Given the description of an element on the screen output the (x, y) to click on. 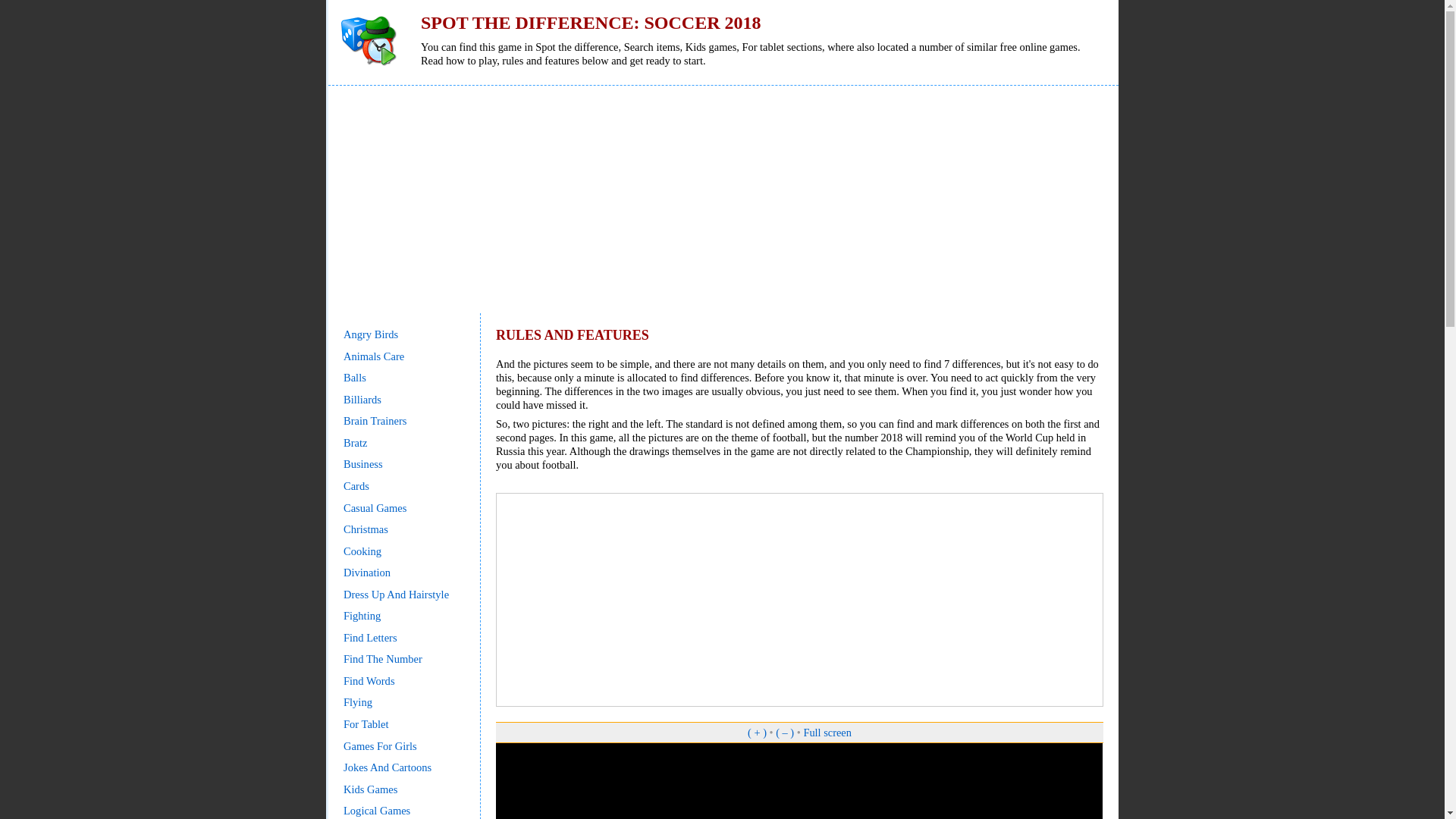
Brain Trainers (374, 420)
Decrease size (784, 732)
Business (362, 463)
Angry Birds (370, 334)
Bratz (354, 442)
Balls (354, 377)
Casual Games (374, 508)
Full screen mode (827, 732)
Cards (356, 485)
Increase size (757, 732)
Animals Care (373, 356)
Full screen (827, 732)
Billiards (362, 399)
